Given the description of an element on the screen output the (x, y) to click on. 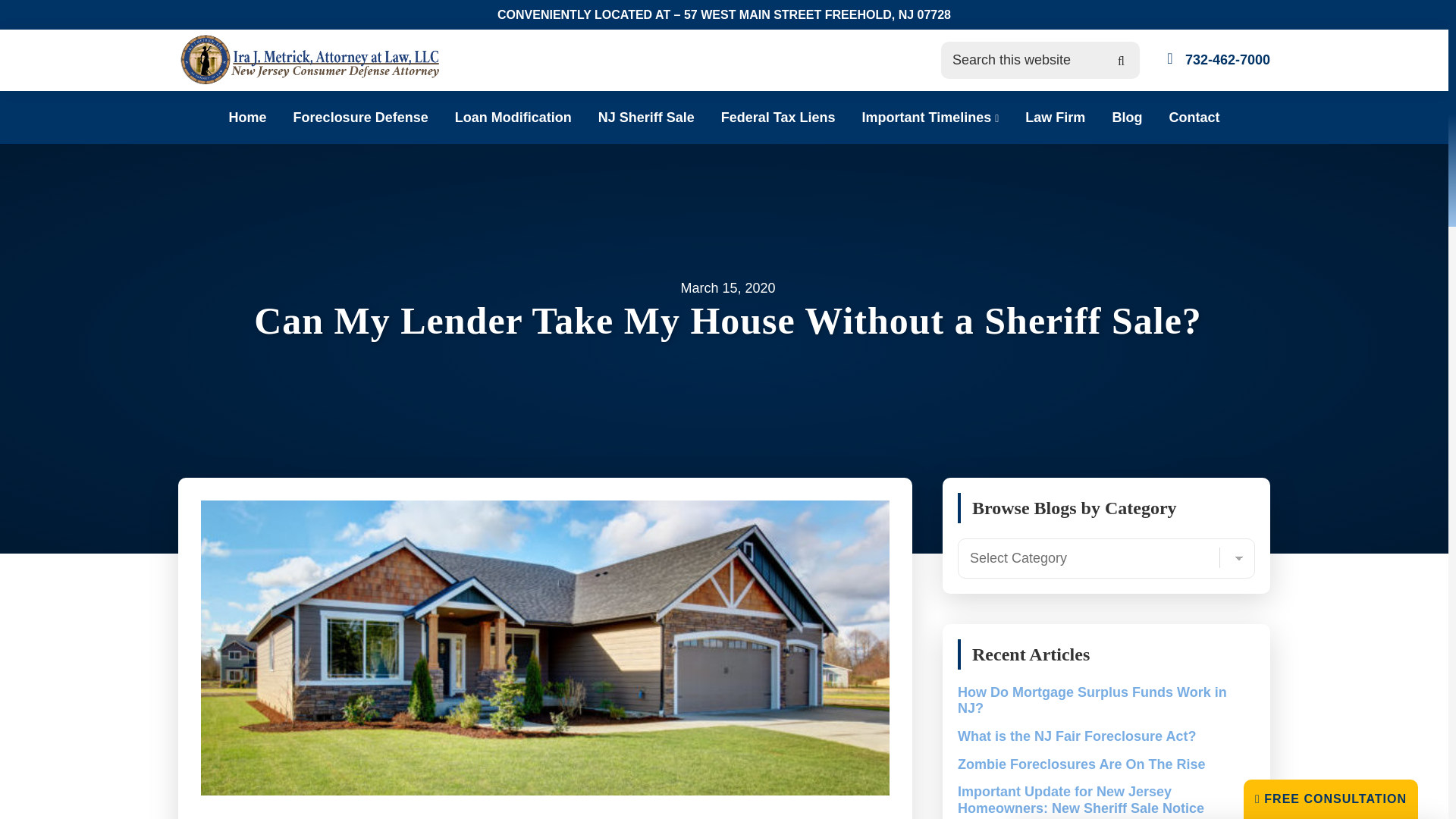
Loan Modification (513, 117)
Home (247, 117)
Blog (1126, 117)
What is the NJ Fair Foreclosure Act? (1076, 735)
Important Timelines (930, 117)
NJ Sheriff Sale (646, 117)
Zombie Foreclosures Are On The Rise (1081, 764)
732-462-7000 (1227, 59)
Contact (1193, 117)
How Do Mortgage Surplus Funds Work in NJ? (1092, 700)
Foreclosure Defense (360, 117)
Federal Tax Liens (778, 117)
Law Firm (1054, 117)
